Given the description of an element on the screen output the (x, y) to click on. 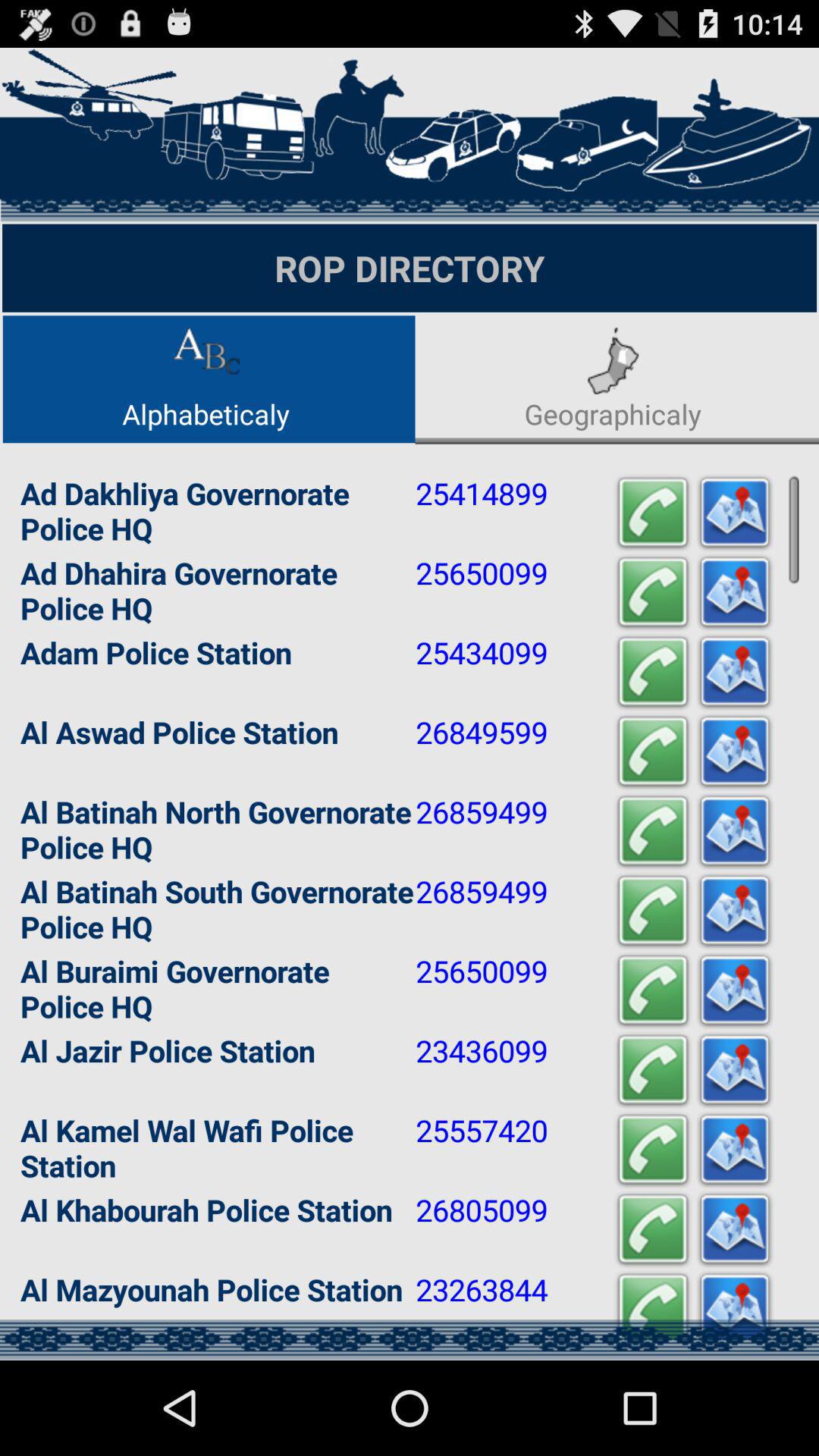
al buraimi governorate police hq location (734, 990)
